Given the description of an element on the screen output the (x, y) to click on. 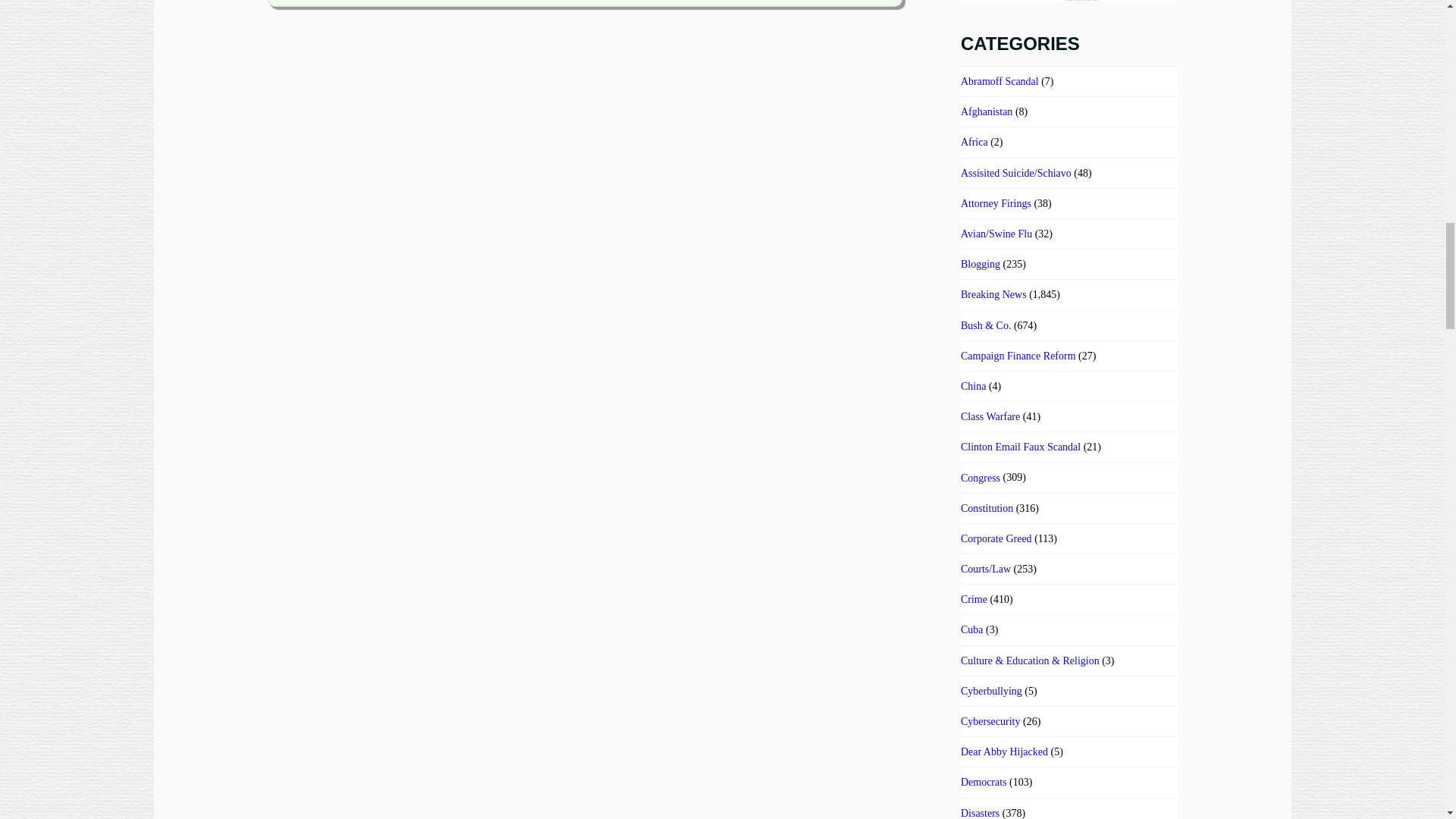
Constitution (986, 508)
Abramoff Scandal (999, 81)
Afghanistan (985, 111)
Crime (973, 599)
Africa (974, 141)
Campaign Finance Reform (1017, 355)
Congress (980, 478)
Attorney Firings (995, 203)
Corporate Greed (996, 538)
Blogging (980, 263)
